Given the description of an element on the screen output the (x, y) to click on. 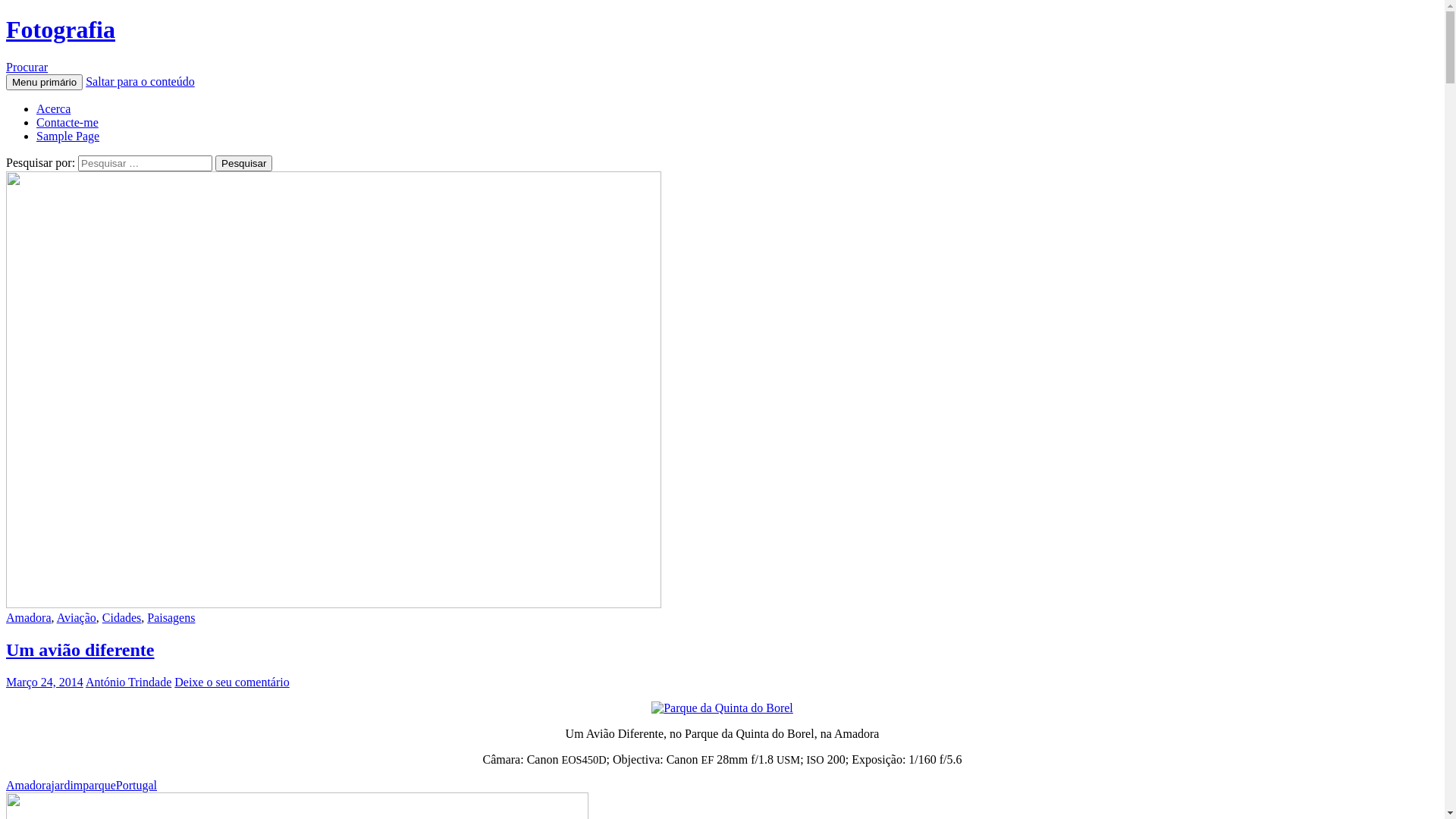
Cidades Element type: text (121, 617)
Pesquisar Element type: text (243, 163)
Amadora Element type: text (28, 617)
Contacte-me Element type: text (67, 122)
Fotografia Element type: text (60, 29)
Paisagens Element type: text (170, 617)
Portugal Element type: text (136, 784)
Acerca Element type: text (53, 108)
Amadora Element type: text (28, 784)
parque Element type: text (99, 784)
jardim Element type: text (67, 784)
Procurar Element type: text (26, 66)
Sample Page Element type: text (67, 135)
